Given the description of an element on the screen output the (x, y) to click on. 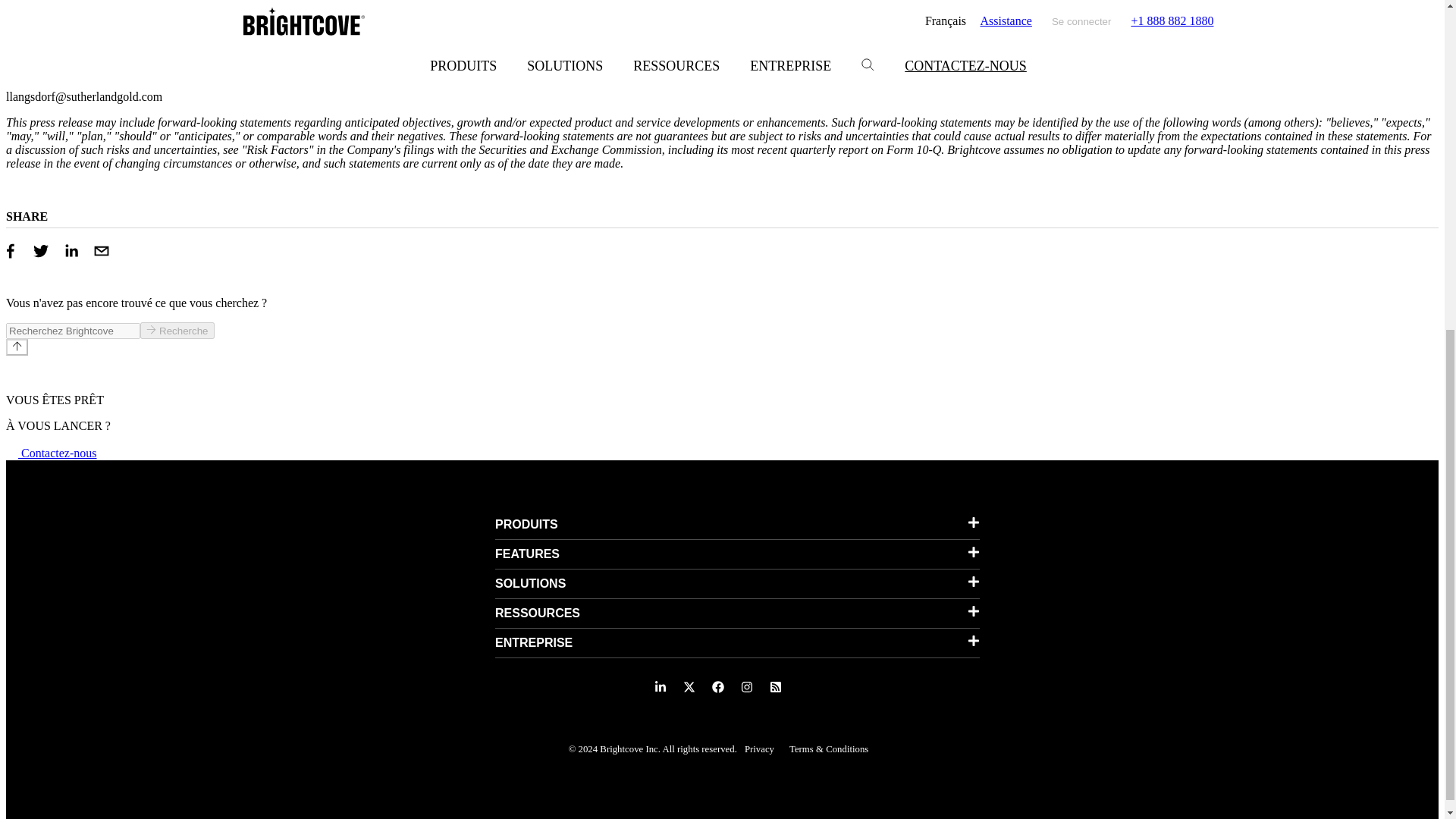
Recherche (176, 330)
FEATURES (737, 553)
Contactez-nous (51, 452)
PRODUITS (737, 524)
